Given the description of an element on the screen output the (x, y) to click on. 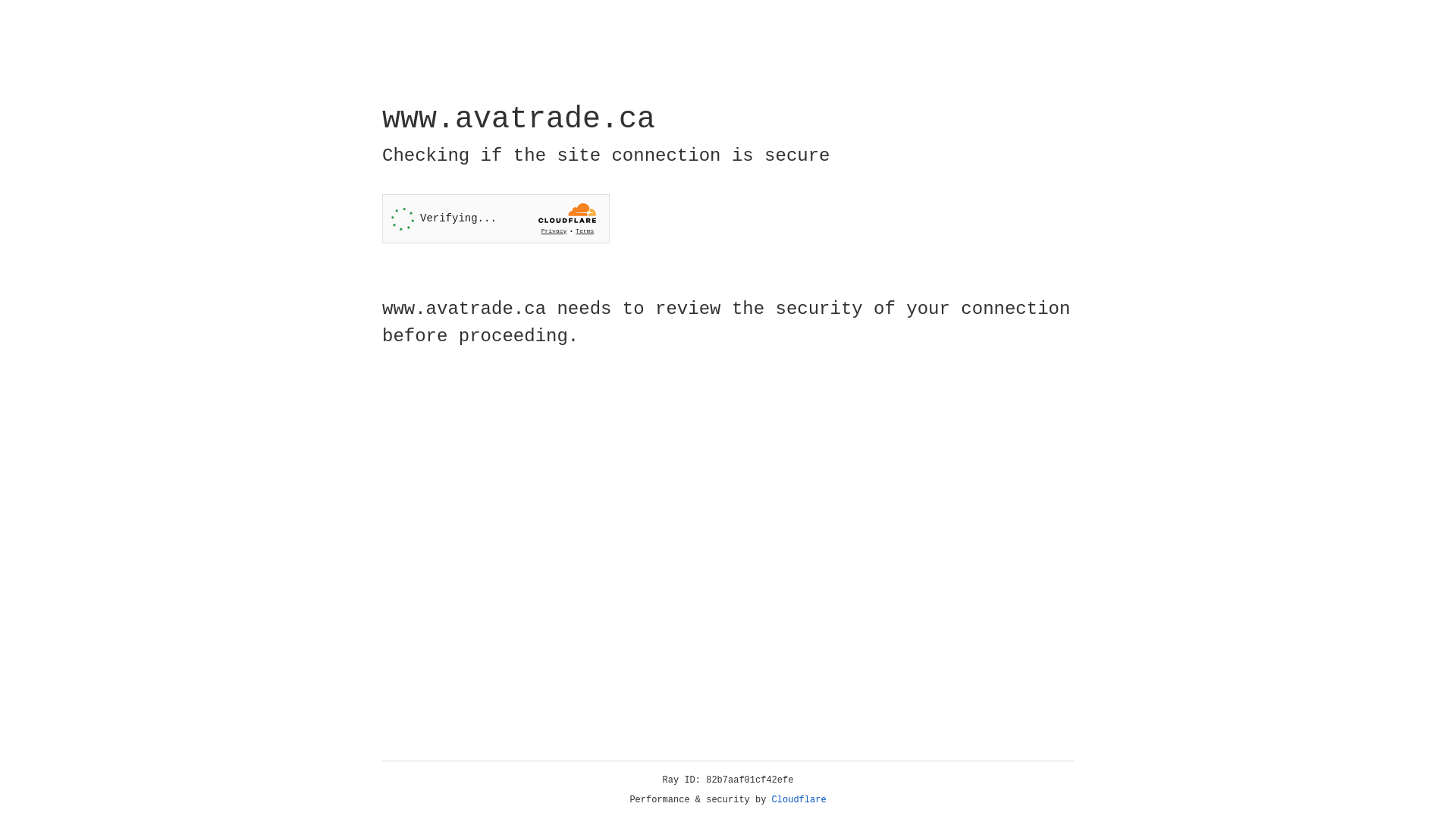
Cloudflare Element type: text (798, 799)
Widget containing a Cloudflare security challenge Element type: hover (495, 218)
